Given the description of an element on the screen output the (x, y) to click on. 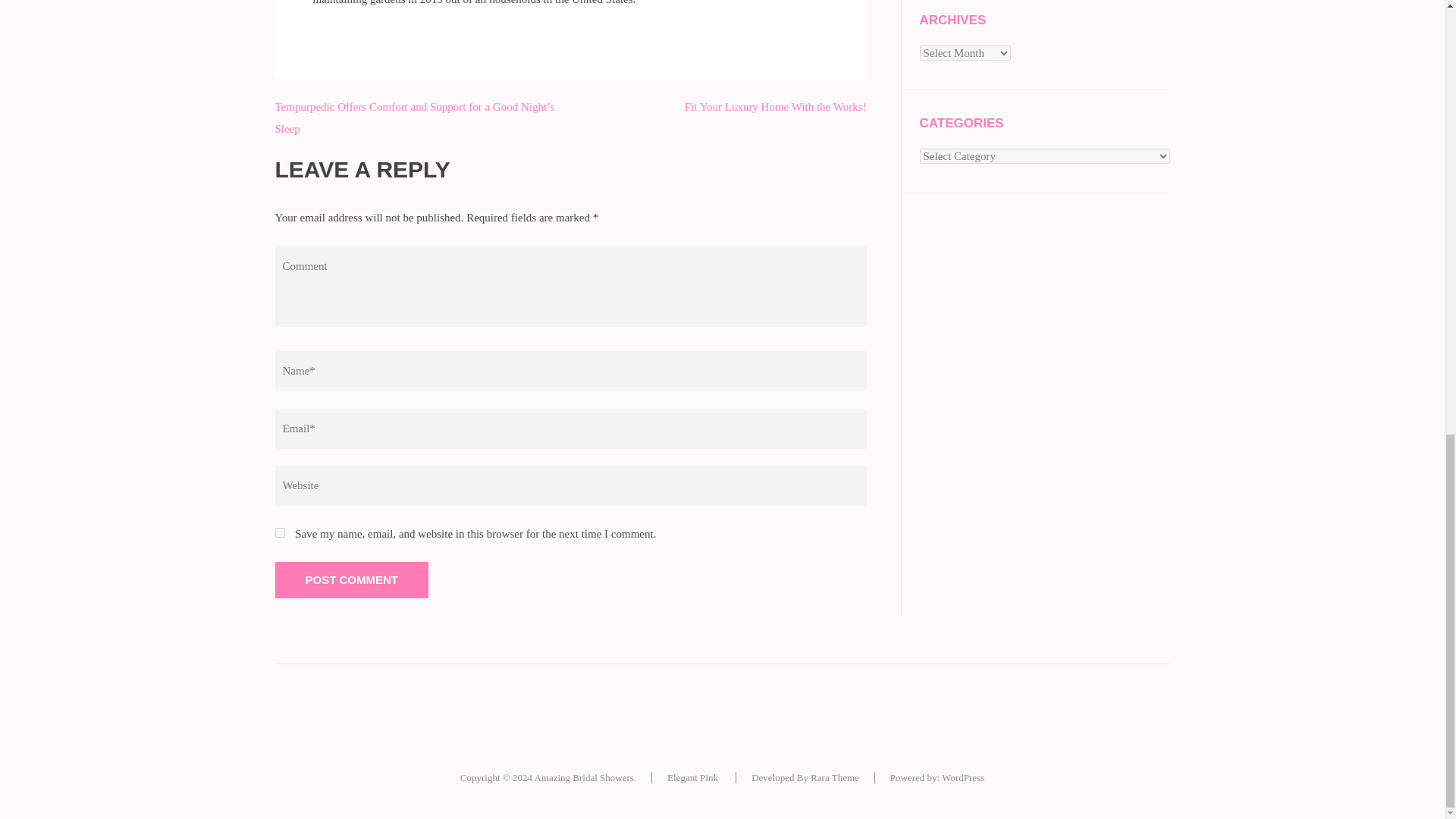
Post Comment (351, 579)
Fit Your Luxury Home With the Works! (775, 106)
yes (279, 532)
Post Comment (351, 579)
